Given the description of an element on the screen output the (x, y) to click on. 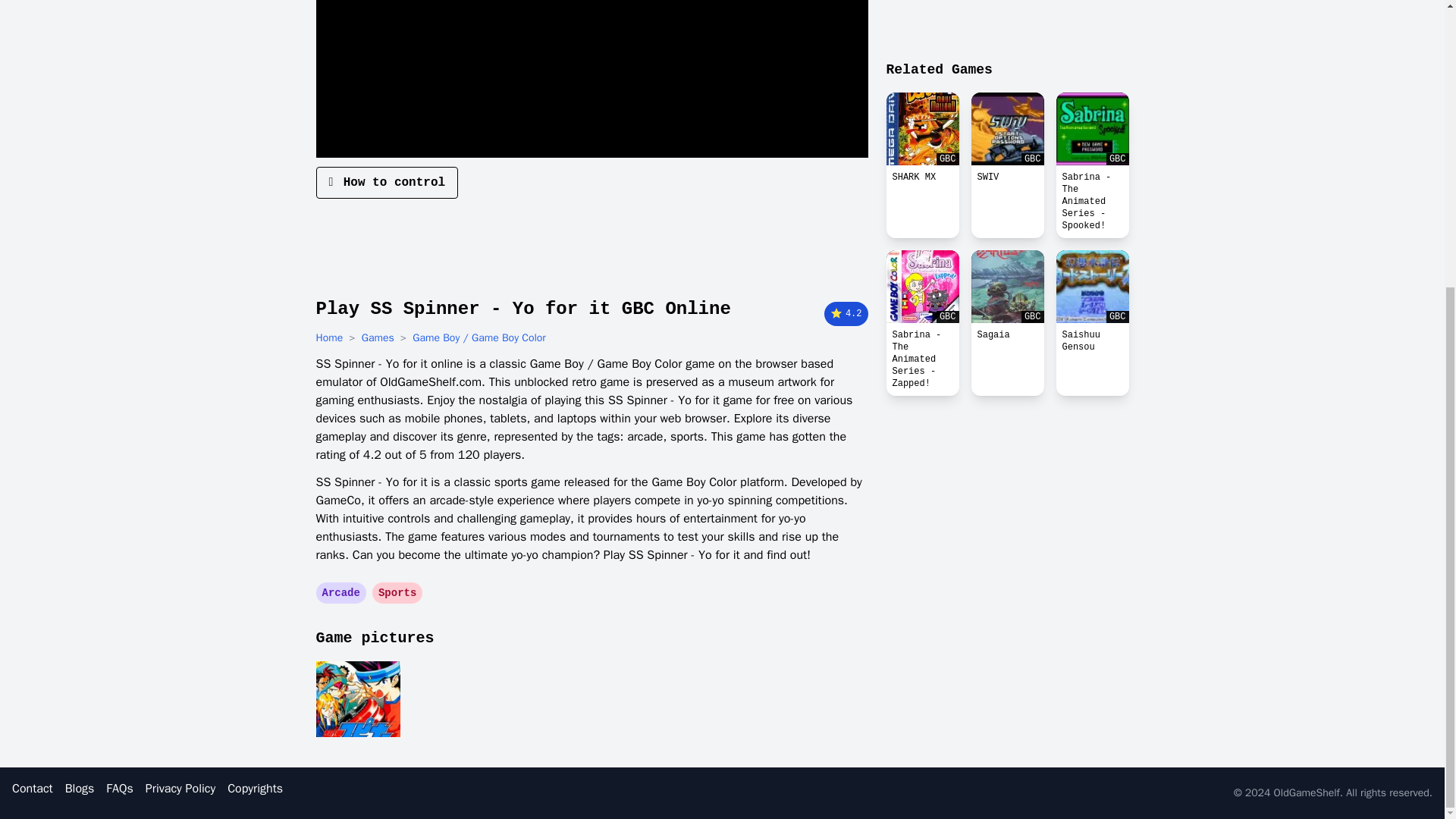
GBC (1091, 128)
SHARK MX (921, 177)
Games (377, 337)
Sabrina - The Animated Series - Spooked! (1091, 201)
Saishuu Gensou (1091, 340)
SS Spinner - Yo for it game screenshot 1 (356, 698)
Arcade (340, 592)
FAQs (119, 788)
Sabrina - The Animated Series - Zapped! (921, 358)
Games (377, 337)
SWIV (1007, 177)
SHARK MX (921, 128)
Home (328, 337)
GBC (921, 128)
GBC (1007, 286)
